Given the description of an element on the screen output the (x, y) to click on. 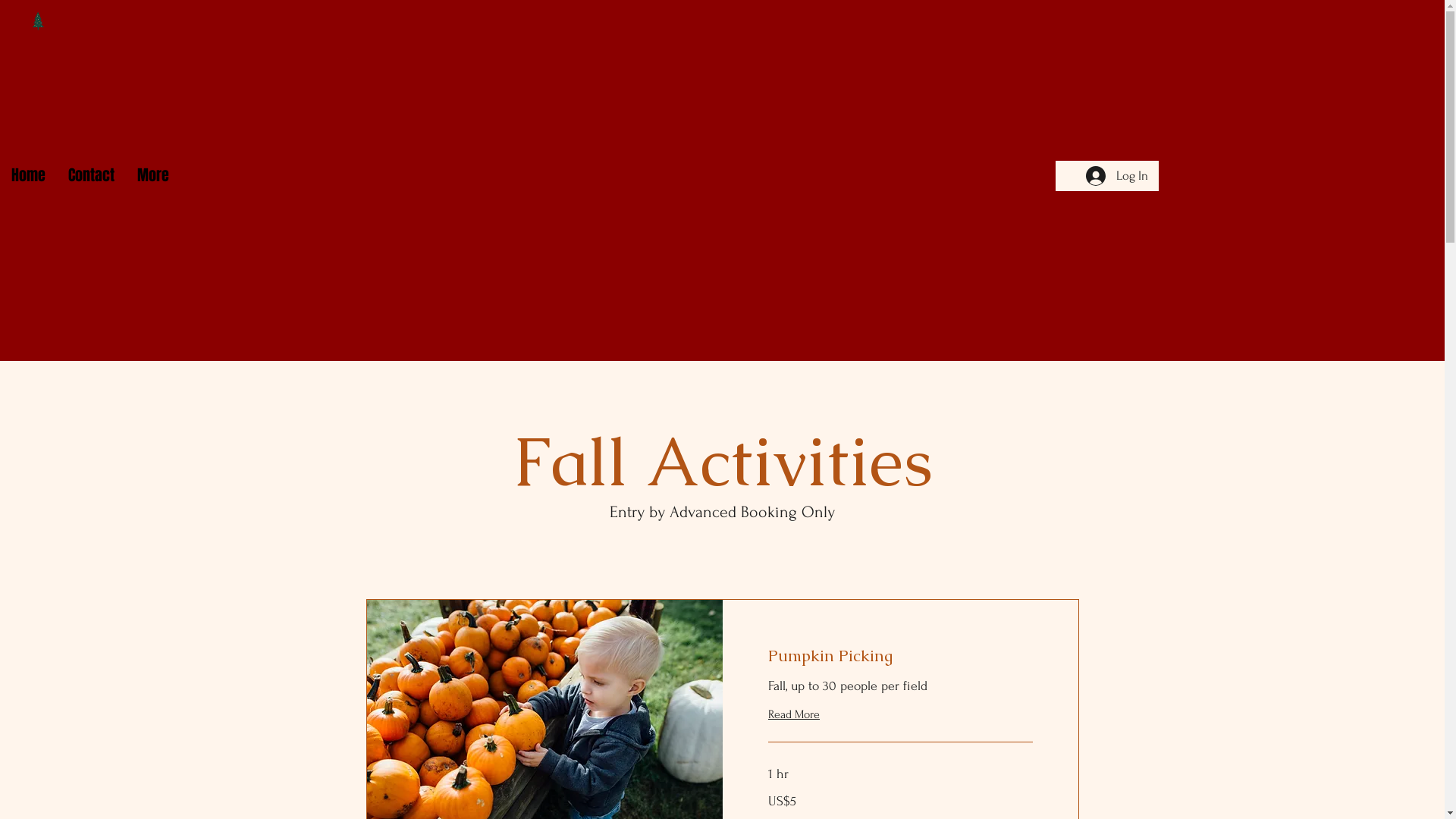
Pumpkin Picking Element type: text (899, 655)
Read More Element type: text (793, 714)
Home Element type: text (28, 174)
Contact Element type: text (90, 174)
Log In Element type: text (1116, 175)
